Given the description of an element on the screen output the (x, y) to click on. 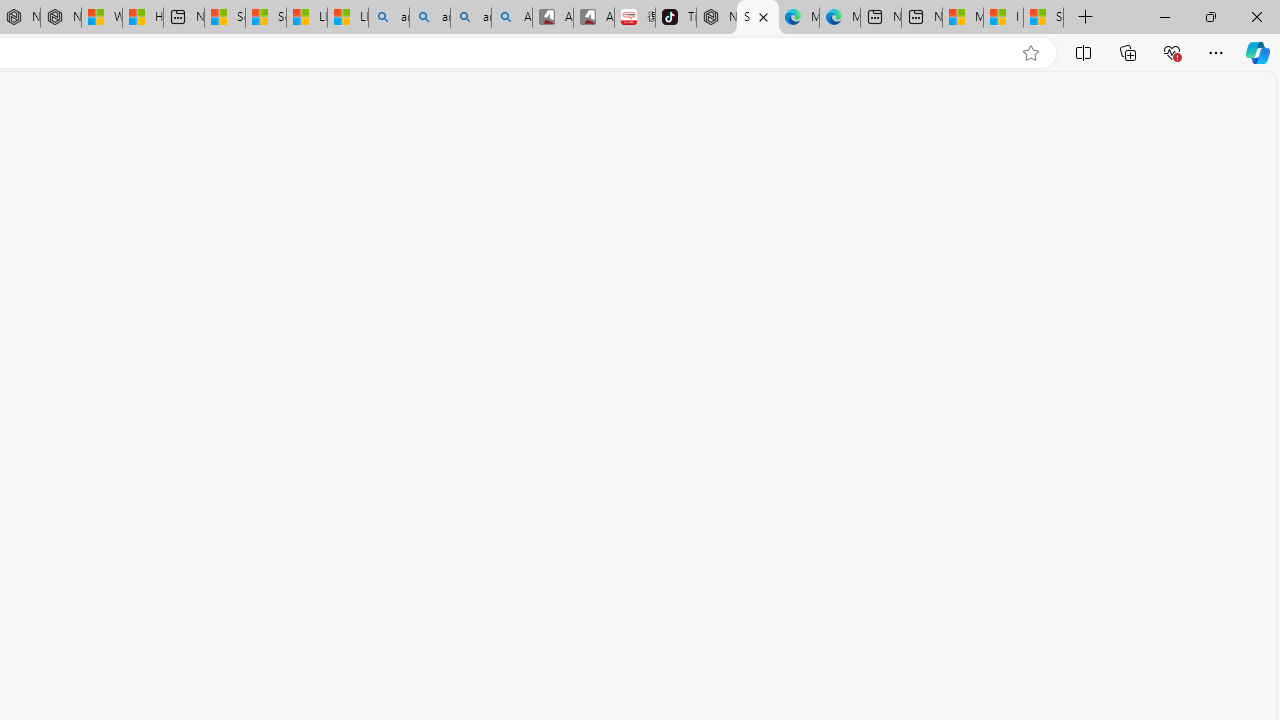
TikTok (675, 17)
amazon - Search Images (470, 17)
